Given the description of an element on the screen output the (x, y) to click on. 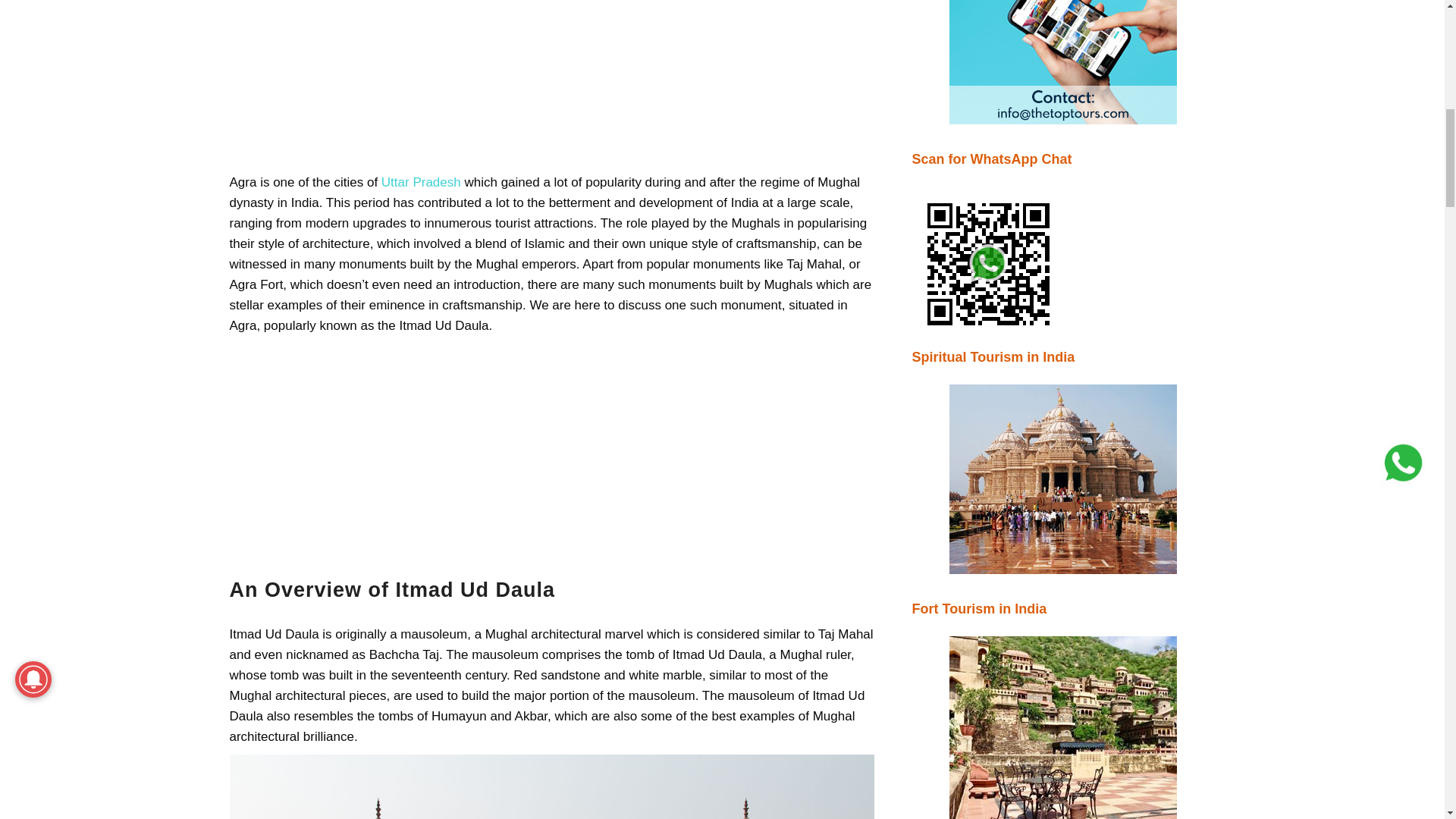
Advertisement (550, 82)
Itmad Ud Daula Travel Guide (550, 786)
Sponsored Content Advertisement (1062, 62)
